Given the description of an element on the screen output the (x, y) to click on. 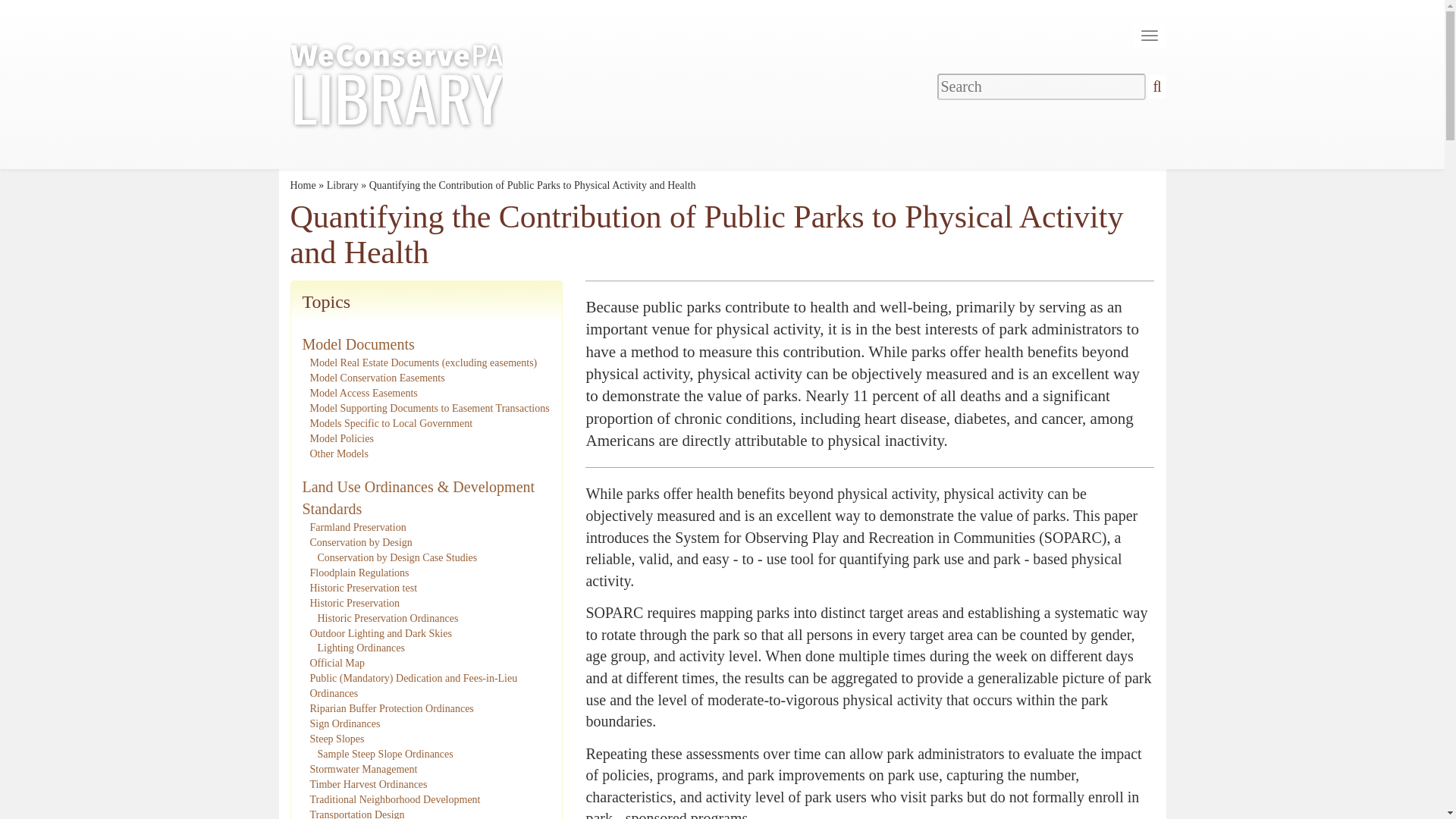
Official Map (336, 663)
Stormwater Management (362, 768)
Model Policies (340, 438)
Conservation by Design Case Studies (397, 557)
Farmland Preservation (357, 527)
Lighting Ordinances (360, 647)
Home (302, 184)
Other Models (338, 452)
Historic Preservation test (362, 587)
Sample Steep Slope Ordinances (384, 754)
Historic Preservation Ordinances (387, 618)
Outdoor Lighting and Dark Skies (379, 633)
Historic Preservation (353, 603)
Steep Slopes (336, 738)
Riparian Buffer Protection Ordinances (390, 708)
